Given the description of an element on the screen output the (x, y) to click on. 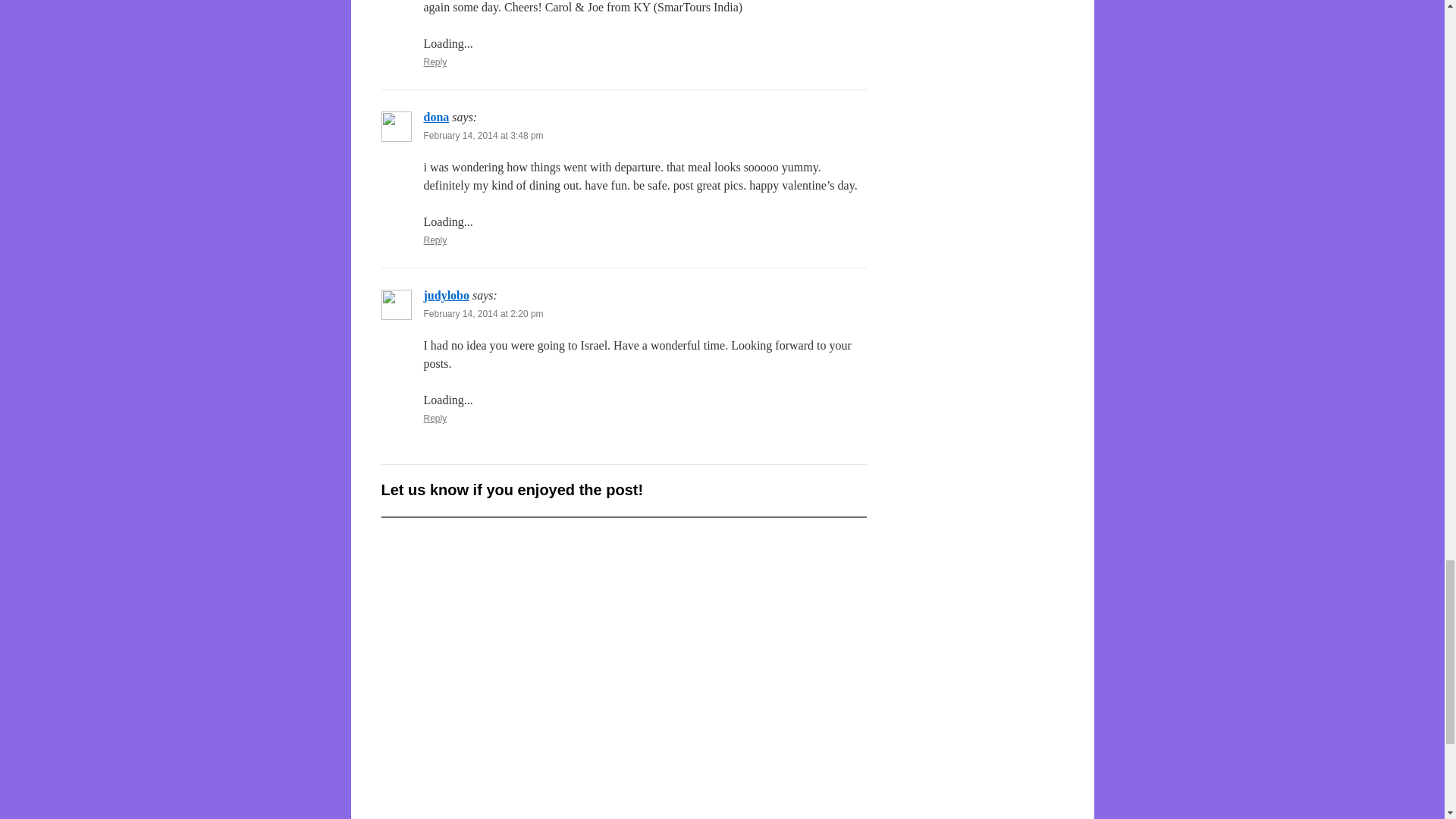
February 14, 2014 at 3:48 pm (483, 135)
dona (435, 116)
Reply (434, 61)
Reply (434, 240)
